Given the description of an element on the screen output the (x, y) to click on. 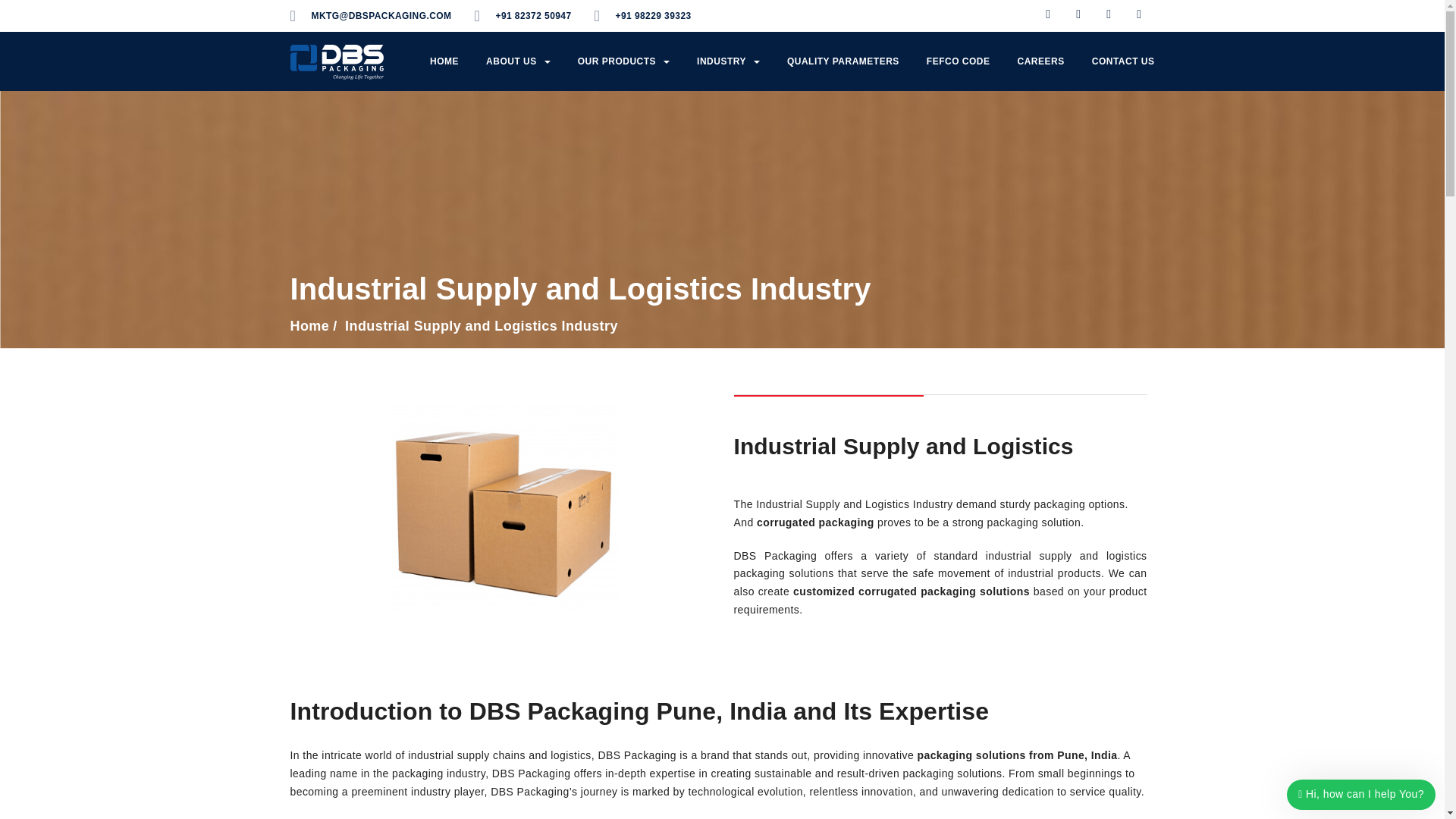
HOME (443, 61)
CAREERS (1041, 61)
QUALITY PARAMETERS (842, 61)
CONTACT US (1123, 61)
OUR PRODUCTS (623, 61)
ABOUT US (517, 61)
INDUSTRY (727, 61)
Home (309, 325)
FEFCO CODE (958, 61)
